Given the description of an element on the screen output the (x, y) to click on. 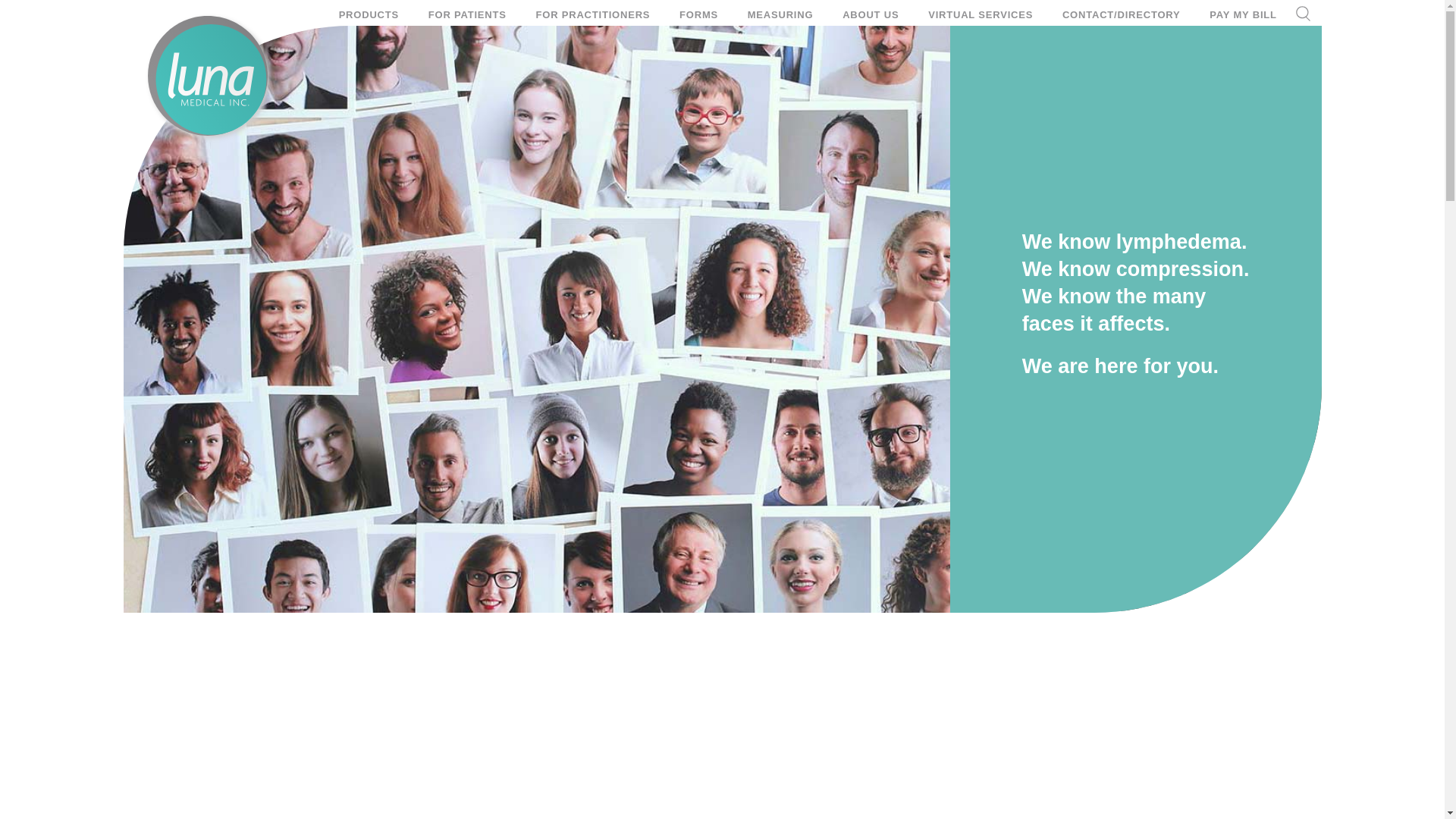
PRODUCTS (368, 9)
FOR PRACTITIONERS (592, 9)
PAY MY BILL (1243, 9)
ABOUT US (870, 9)
VIRTUAL SERVICES (980, 9)
FORMS (698, 9)
MEASURING (780, 9)
FOR PATIENTS (467, 9)
